Given the description of an element on the screen output the (x, y) to click on. 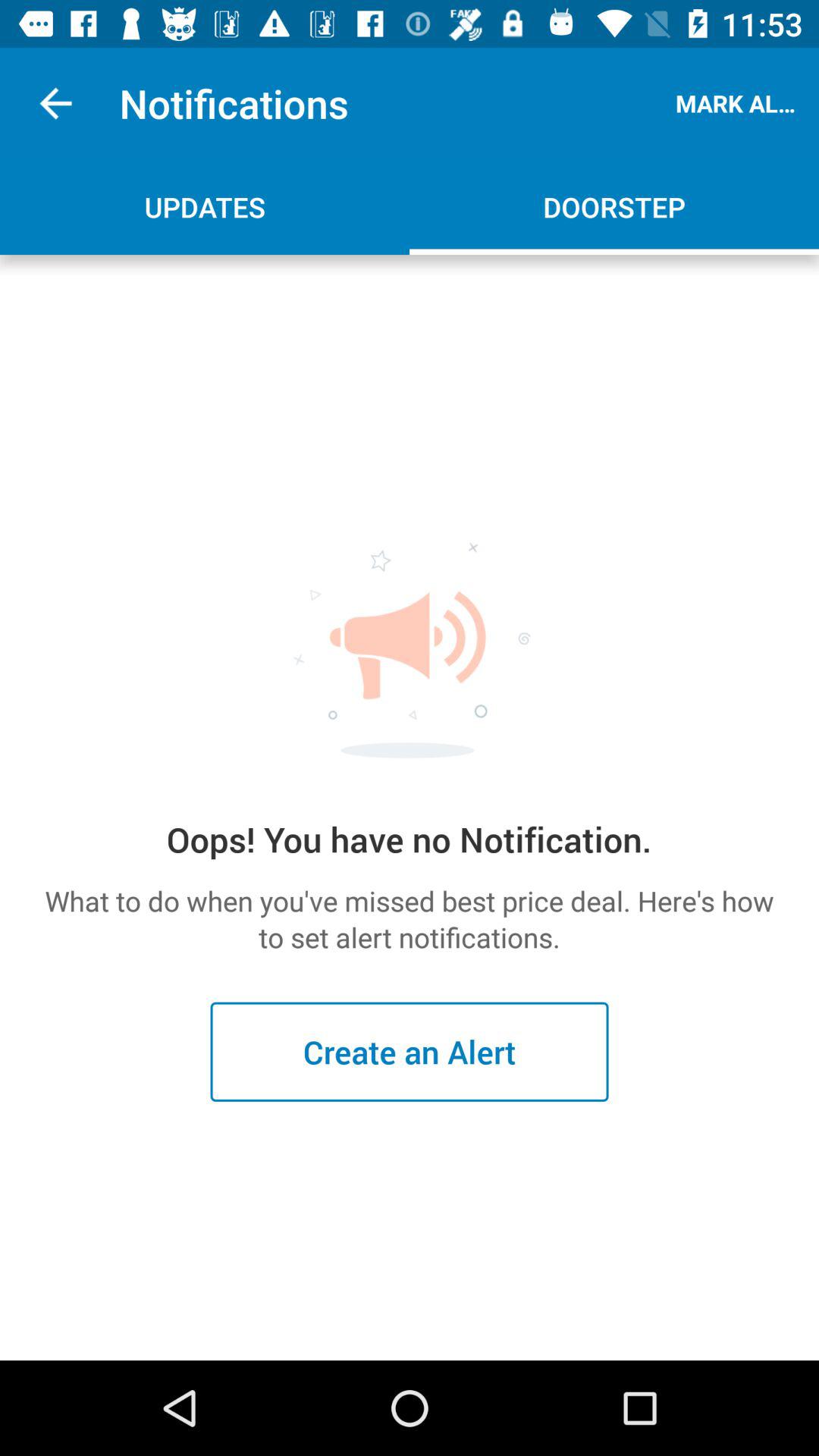
click the doorstep item (614, 206)
